Given the description of an element on the screen output the (x, y) to click on. 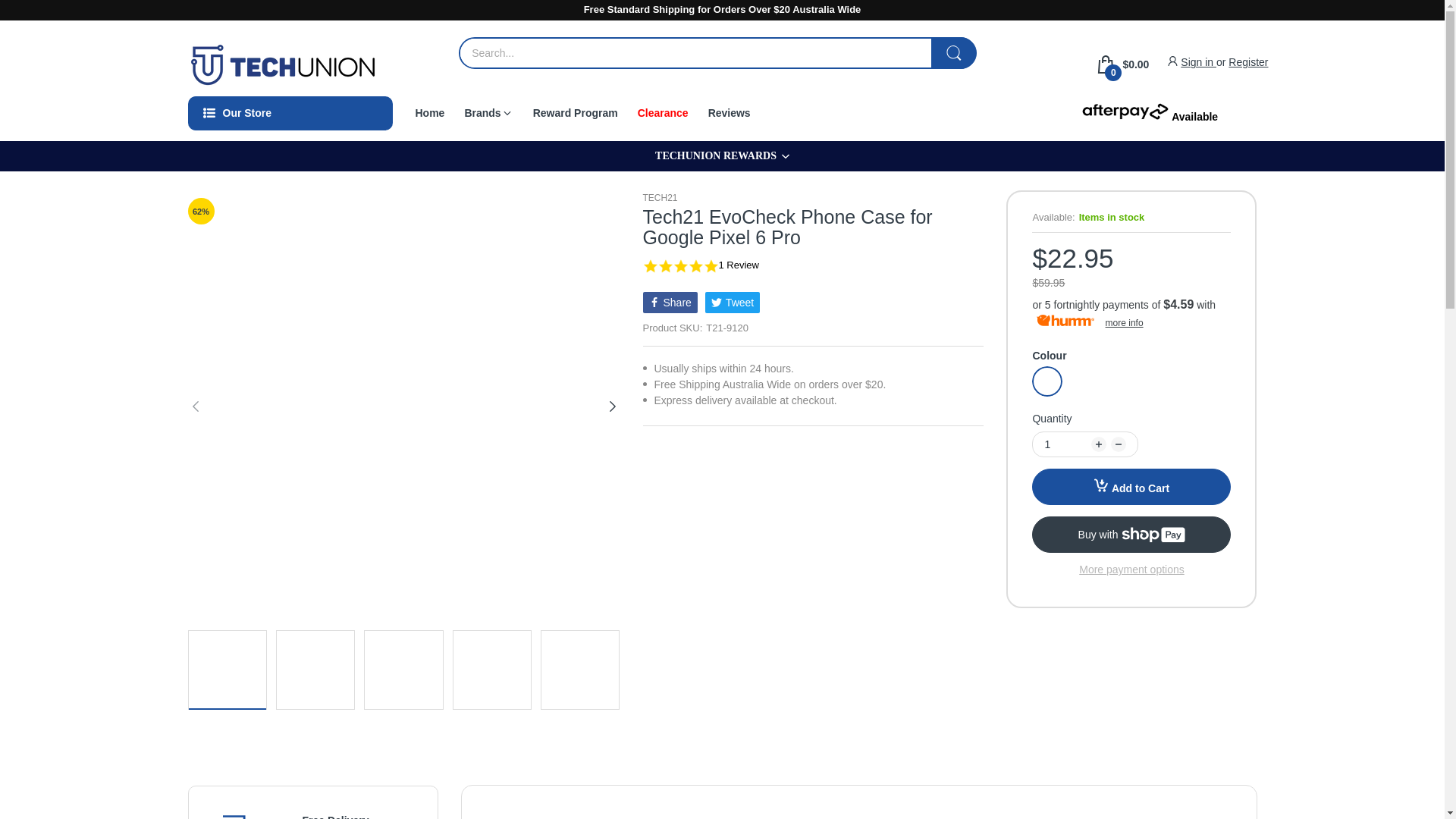
Reward Program (574, 112)
electro-track-order-icon (239, 814)
Smokey Black (1047, 381)
Register (1248, 61)
Smokey Black (1047, 381)
Add to Cart (1131, 486)
Tech21 EvoCheck Phone Case for Google Pixel 6 Pro. (579, 669)
Sign in (1197, 61)
Tech21 EvoCheck Phone Case for Google Pixel 6 Pro. (491, 669)
Tech21 EvoCheck Phone Case for Google Pixel 6 Pro. (314, 669)
Clearance (662, 112)
Twitter (732, 301)
Tech21 EvoCheck Phone Case for Google Pixel 6 Pro. (225, 669)
Facebook (670, 301)
